Given the description of an element on the screen output the (x, y) to click on. 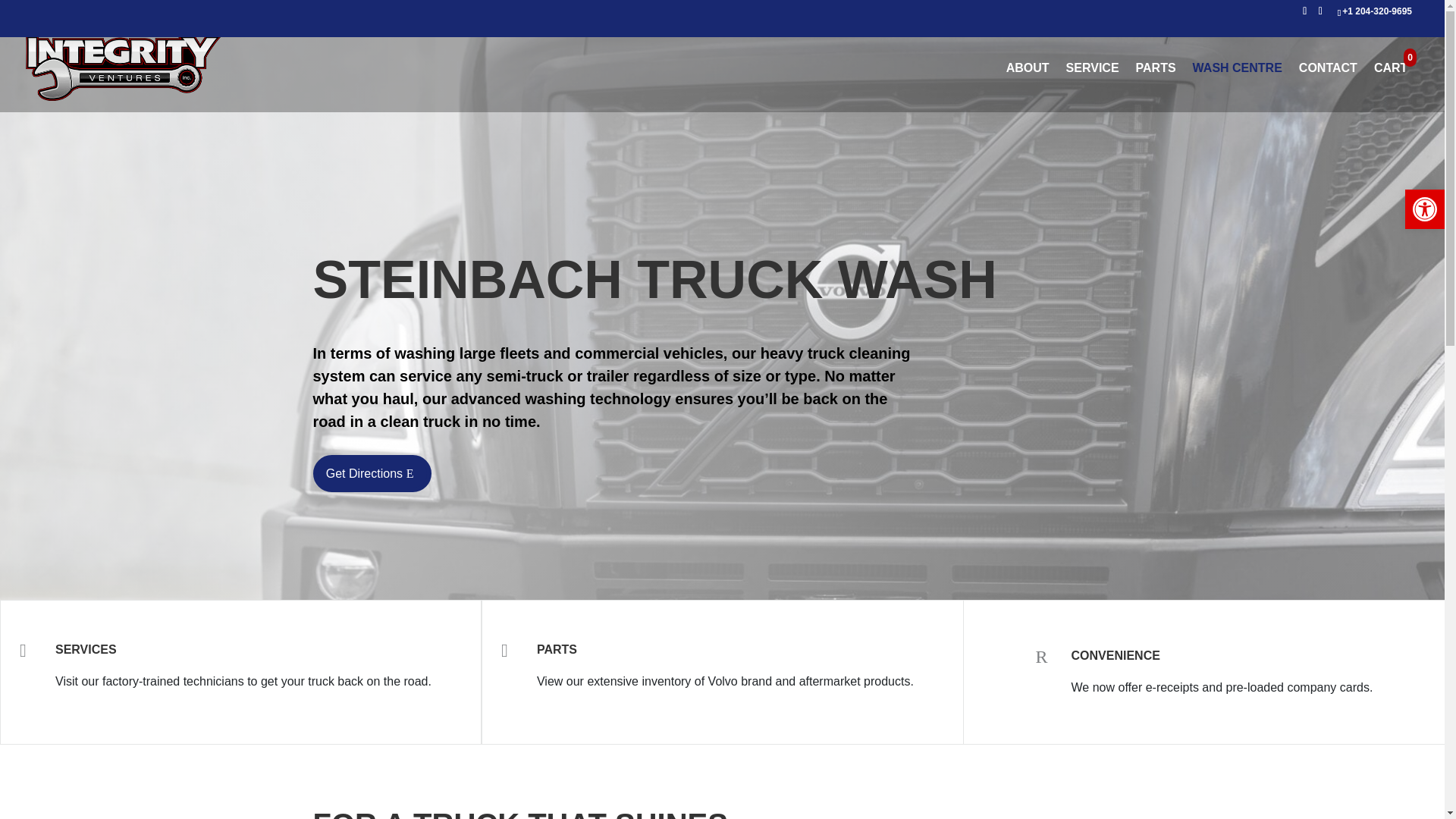
CONTACT (1327, 86)
SERVICE (1092, 86)
WASH CENTRE (1237, 86)
Get Directions (371, 473)
ABOUT (1027, 86)
CART0 (1397, 86)
SERVICES (85, 649)
Accessibility Tools (1424, 209)
PARTS (556, 649)
